Given the description of an element on the screen output the (x, y) to click on. 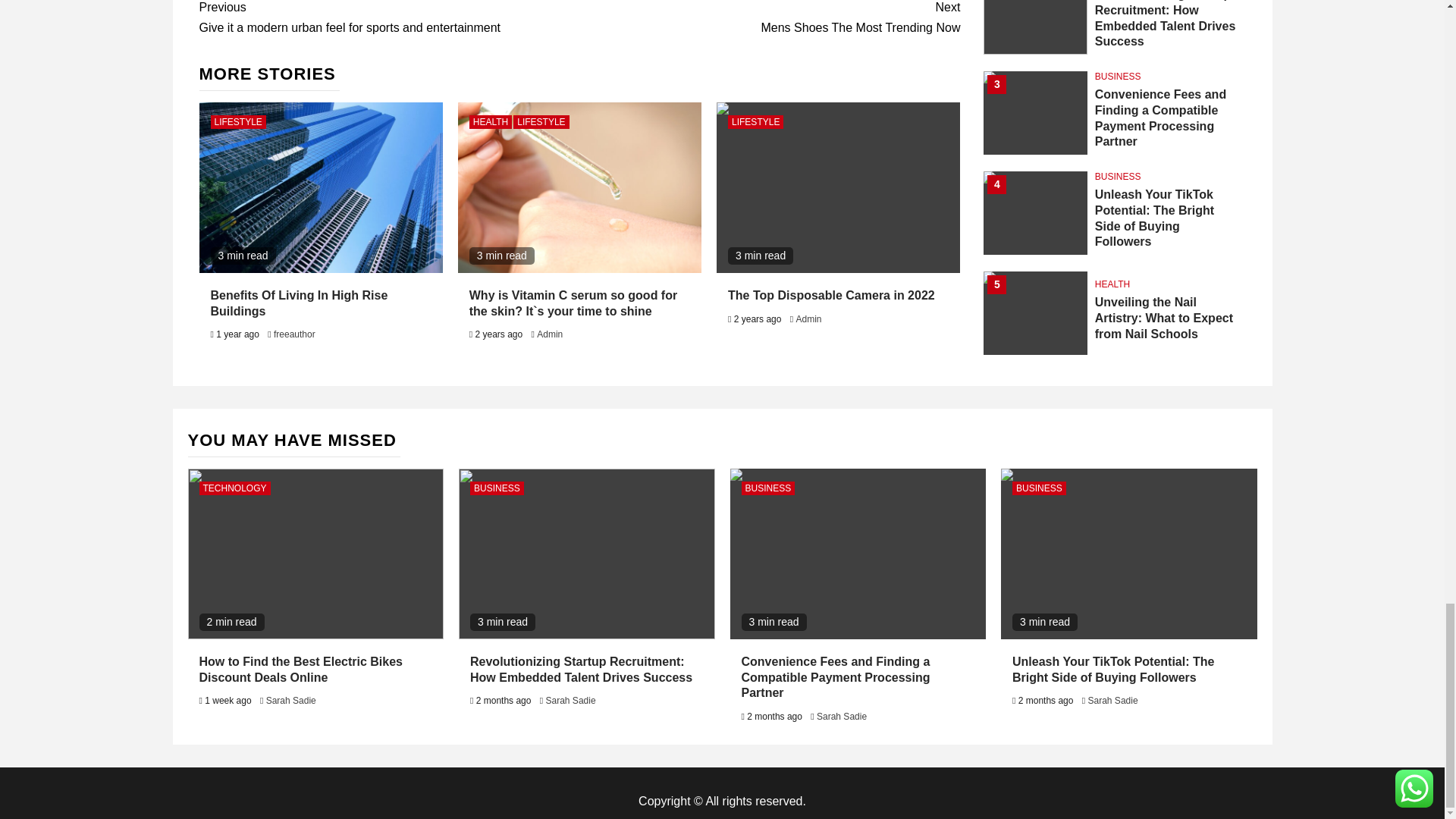
Benefits Of Living In High Rise Buildings (299, 303)
LIFESTYLE (238, 121)
